Given the description of an element on the screen output the (x, y) to click on. 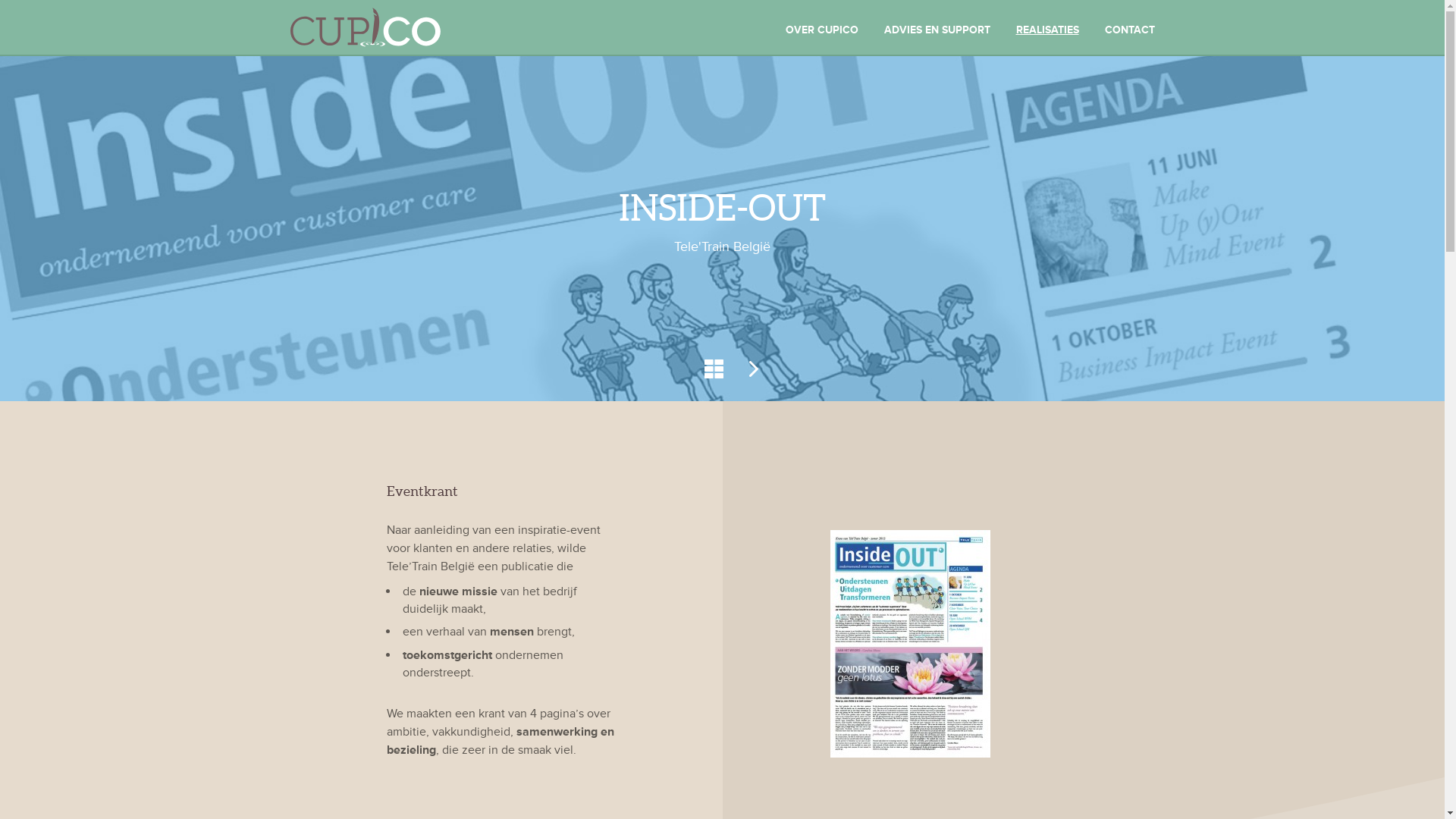
list Element type: hover (712, 367)
REALISATIES Element type: text (1047, 29)
CONTACT Element type: text (1129, 29)
OVER CUPICO Element type: text (821, 29)
ADVIES EN SUPPORT Element type: text (937, 29)
Homepage Element type: hover (425, 27)
